Given the description of an element on the screen output the (x, y) to click on. 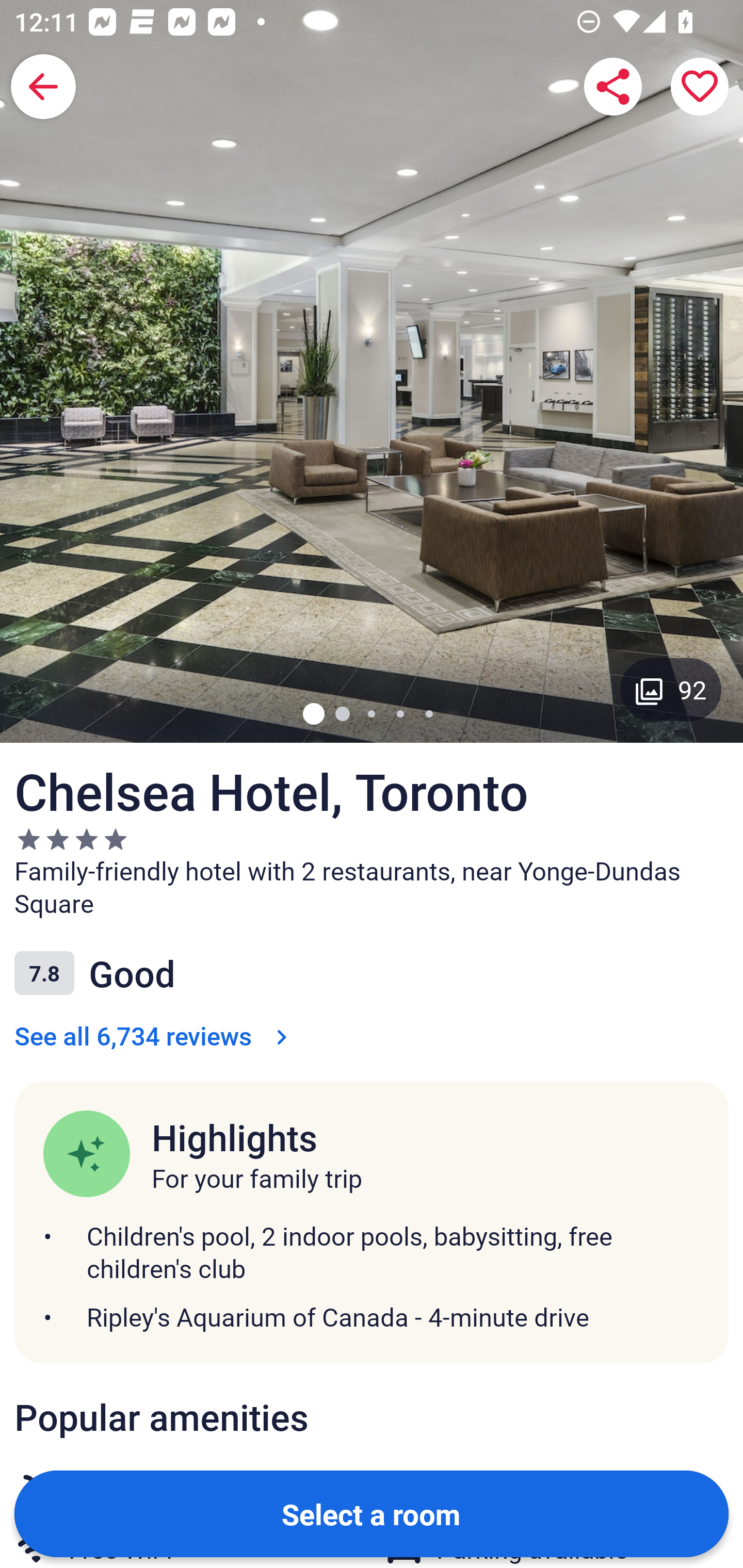
Back (43, 86)
Save property to a trip (699, 86)
Share Chelsea Hotel, Toronto (612, 87)
Gallery button with 92 images (670, 689)
See all 6,734 reviews See all 6,734 reviews Link (154, 1035)
Select a room Button Select a room (371, 1513)
